Given the description of an element on the screen output the (x, y) to click on. 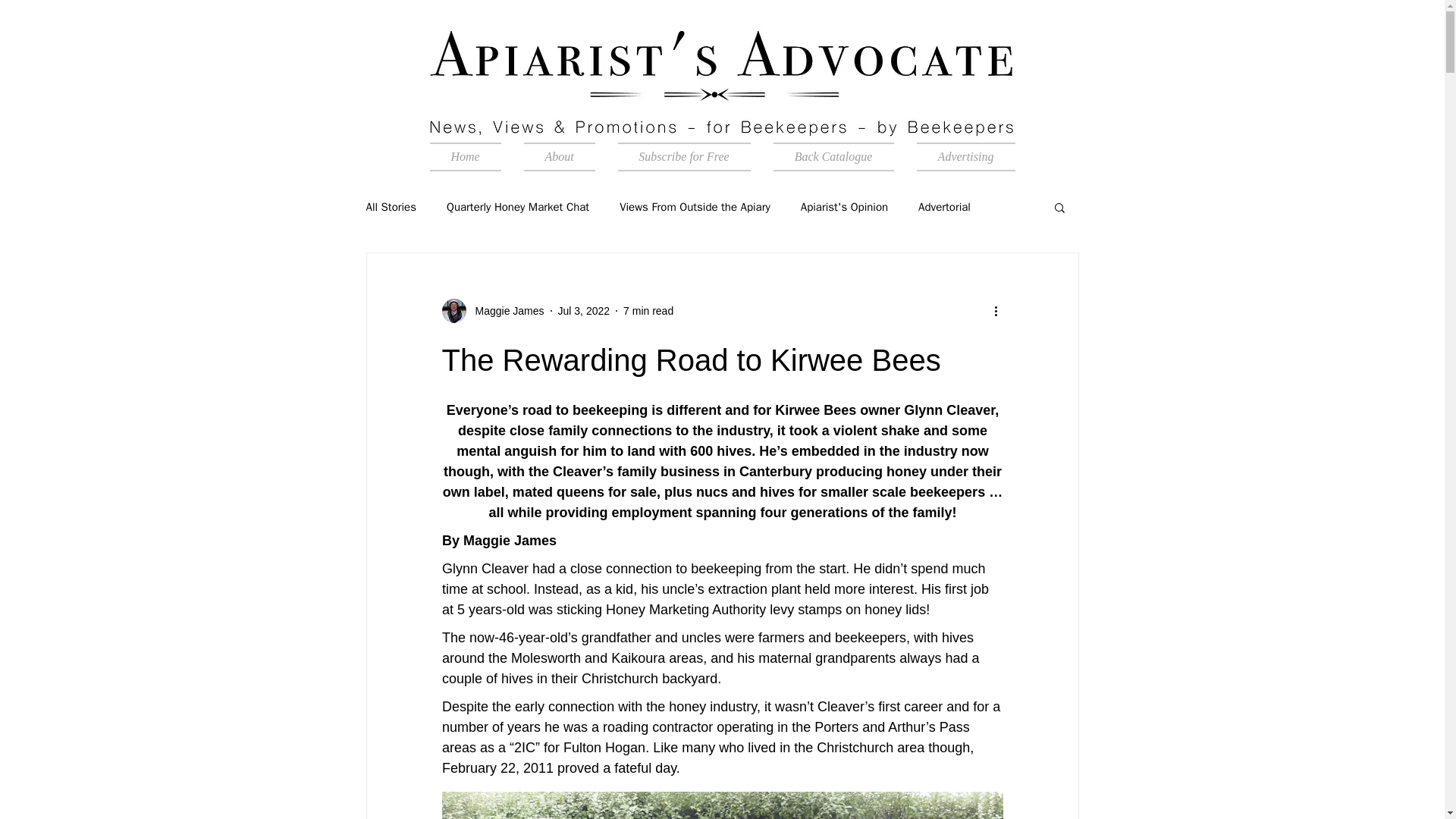
7 min read (647, 310)
Advertising (959, 156)
All Stories (390, 206)
Maggie James (504, 311)
Apiarist's Opinion (844, 206)
About (559, 156)
Advertorial (944, 206)
Views From Outside the Apiary (695, 206)
Back Catalogue (832, 156)
Subscribe for Free (684, 156)
Jul 3, 2022 (583, 310)
Quarterly Honey Market Chat (517, 206)
Home (470, 156)
